Given the description of an element on the screen output the (x, y) to click on. 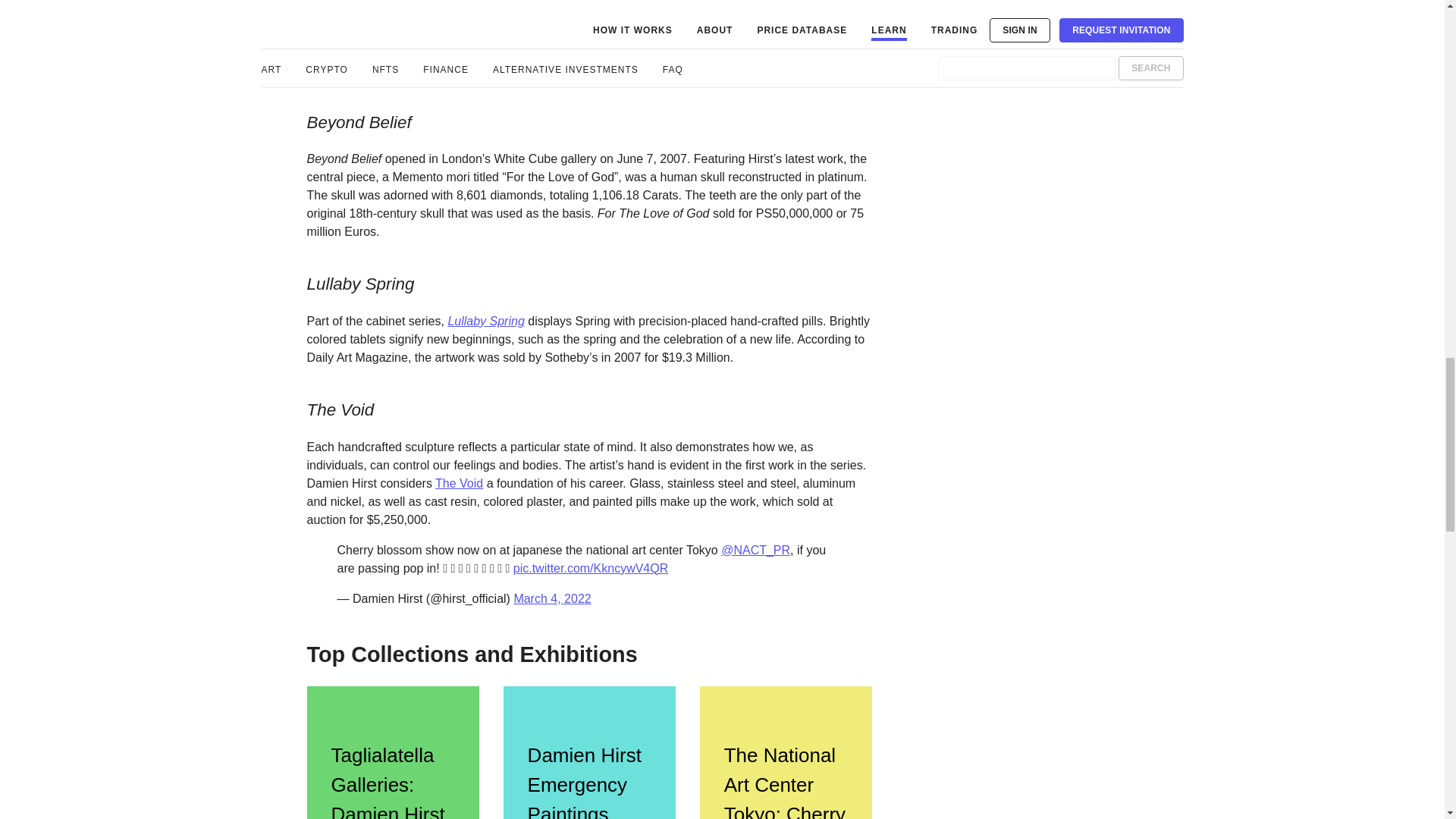
The Void (459, 482)
Lullaby Spring (485, 320)
